Given the description of an element on the screen output the (x, y) to click on. 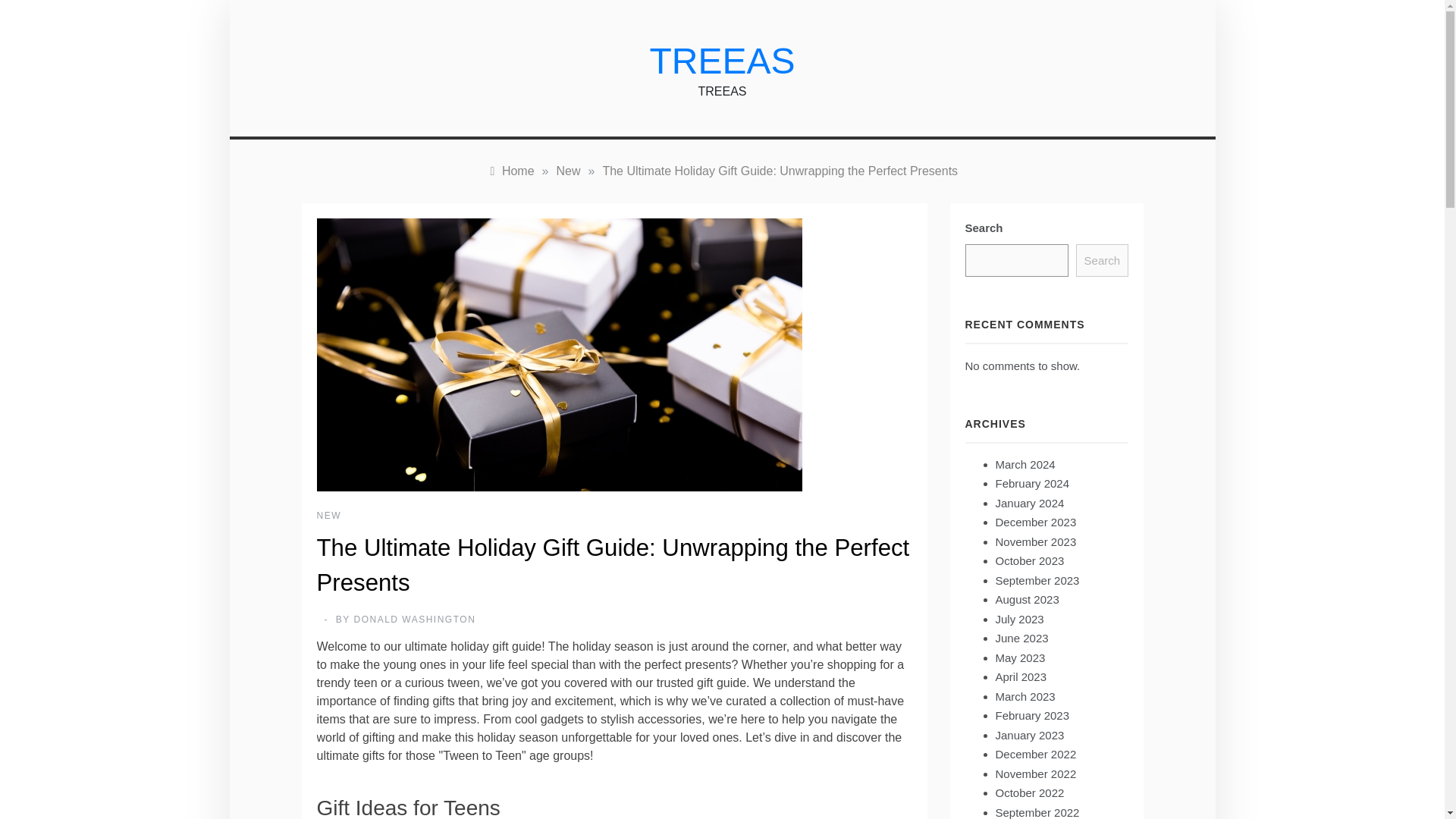
December 2022 (1034, 753)
October 2023 (1029, 560)
November 2022 (1034, 773)
TREEAS (721, 60)
January 2023 (1029, 735)
June 2023 (1021, 637)
DONALD WASHINGTON (414, 619)
February 2023 (1031, 715)
October 2022 (1029, 792)
January 2024 (1029, 502)
